Given the description of an element on the screen output the (x, y) to click on. 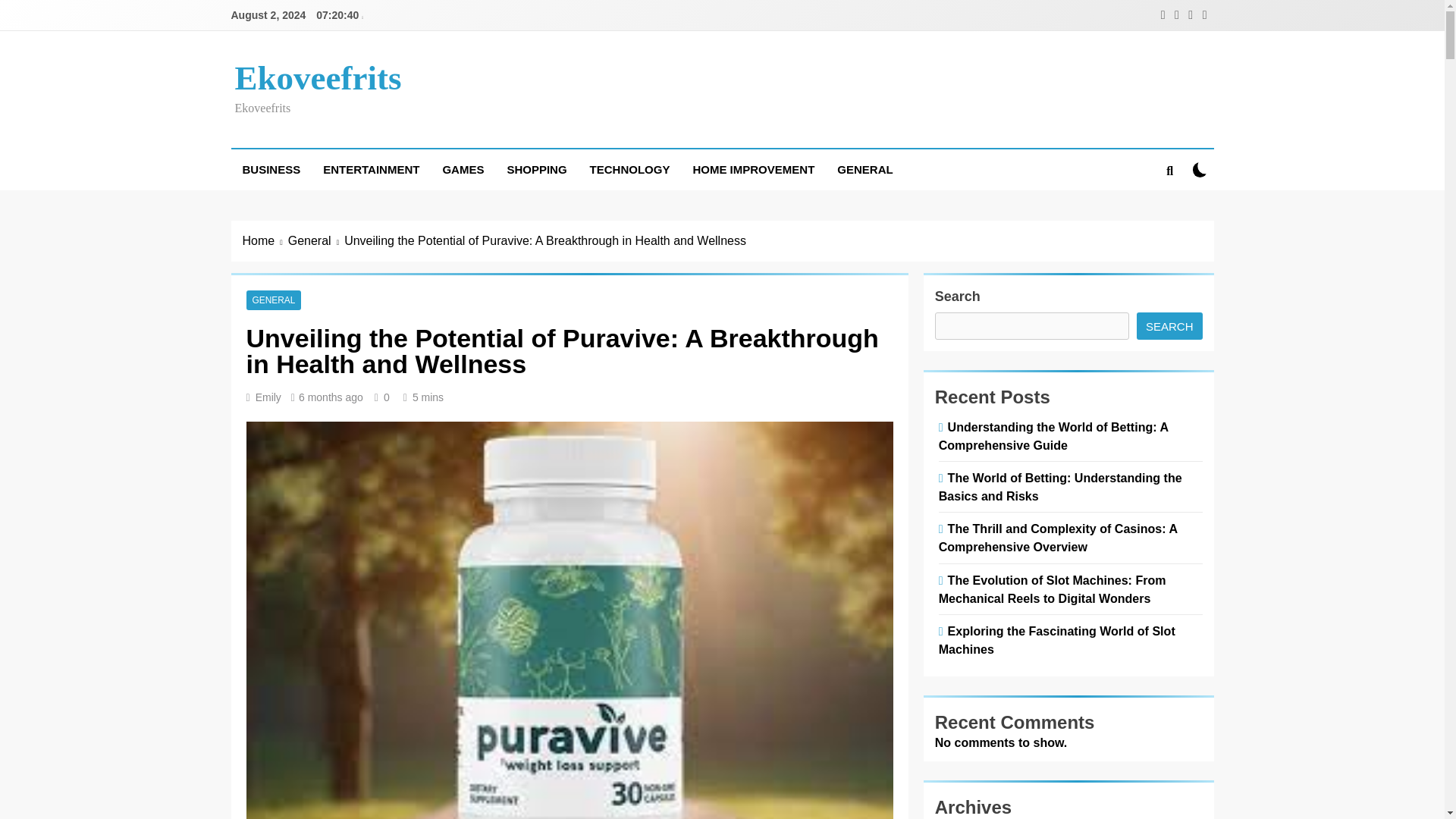
GAMES (462, 169)
6 months ago (330, 397)
HOME IMPROVEMENT (753, 169)
GENERAL (273, 299)
The World of Betting: Understanding the Basics and Risks (1060, 486)
TECHNOLOGY (629, 169)
SEARCH (1169, 325)
BUSINESS (270, 169)
ENTERTAINMENT (370, 169)
on (1199, 169)
Home (265, 240)
Understanding the World of Betting: A Comprehensive Guide (1054, 436)
GENERAL (864, 169)
Ekoveefrits (317, 77)
Emily (268, 397)
